Given the description of an element on the screen output the (x, y) to click on. 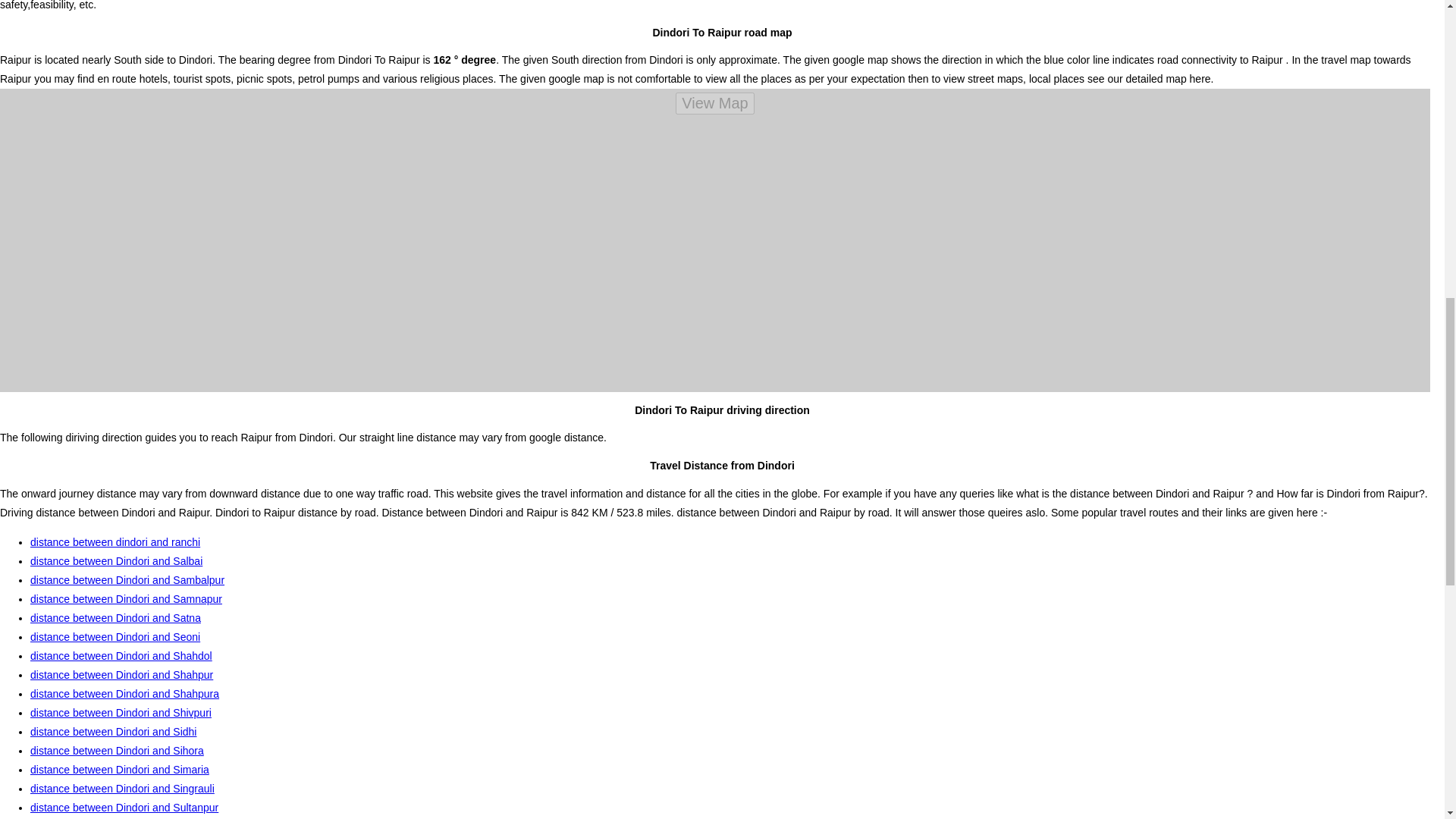
distance between Dindori and Salbai (116, 561)
distance between Dindori and Simaria (119, 769)
distance between dindori and ranchi (115, 541)
distance between Dindori and Sihora (116, 750)
View Map (714, 103)
distance between Dindori and Satna (115, 617)
distance between Dindori and Sultanpur (124, 807)
distance between Dindori and Sambalpur (127, 580)
distance between Dindori and Shahpur (121, 674)
distance between Dindori and Samnapur (126, 598)
